Given the description of an element on the screen output the (x, y) to click on. 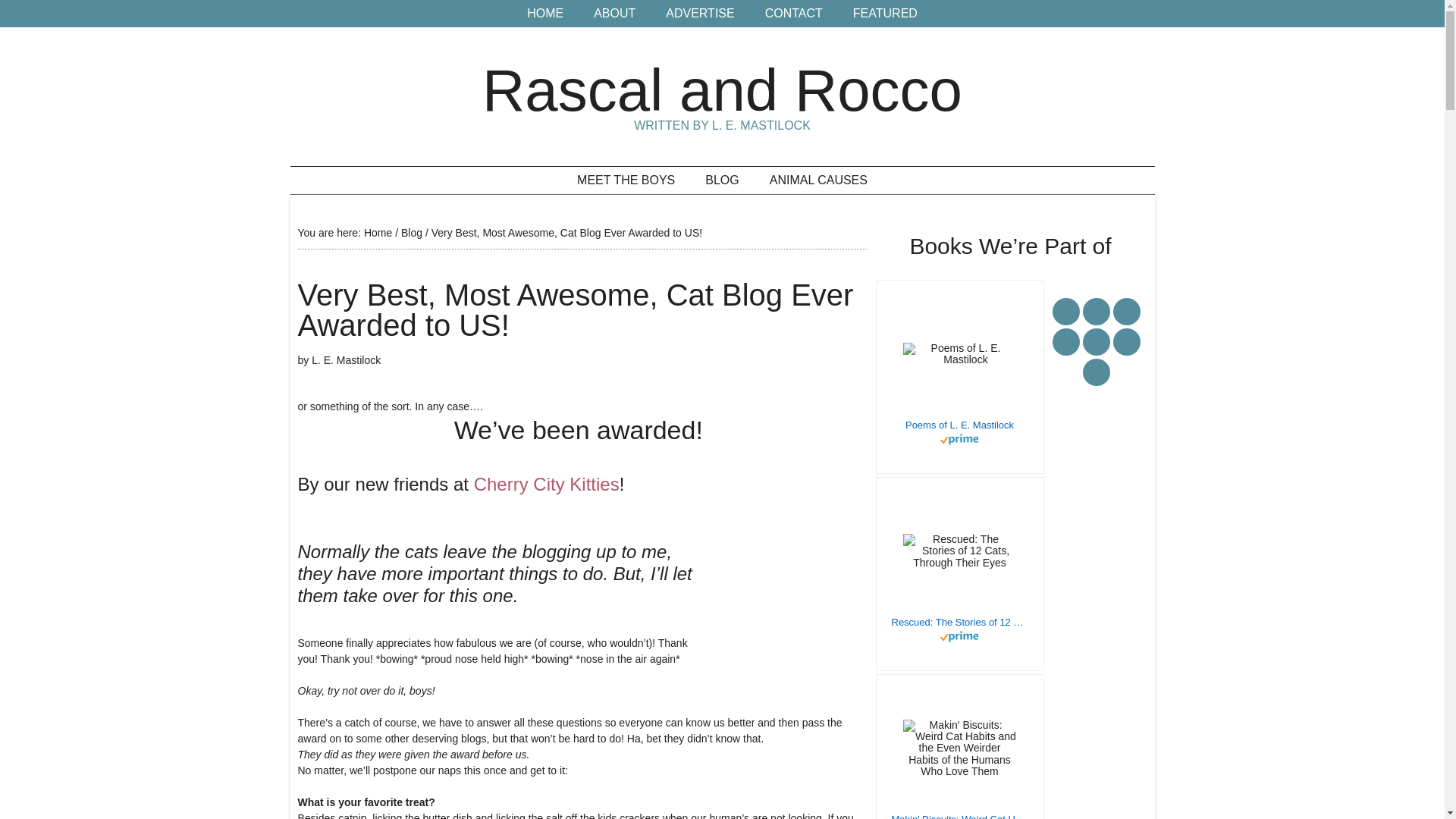
Poems of L. E. Mastilock (959, 424)
CONTACT (793, 13)
cat on laptop computer (790, 583)
Cherry City Kitties (547, 484)
Rescued: The Stories of 12 Cats, Through Their Eyes (959, 622)
L. E. Mastilock (345, 359)
MEET THE BOYS (626, 180)
Rascal and Rocco (721, 89)
